Given the description of an element on the screen output the (x, y) to click on. 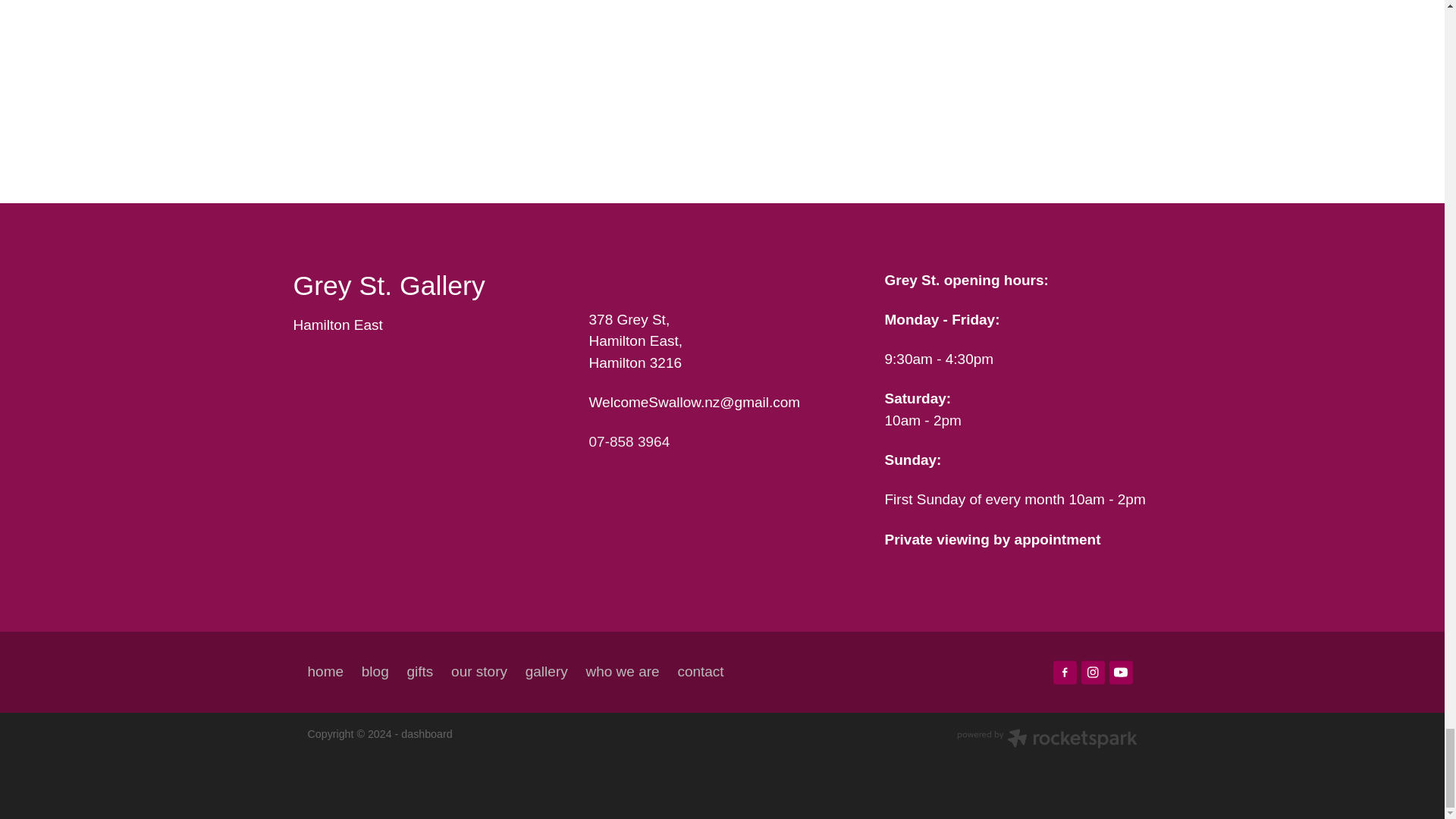
Rocketspark website builder (1046, 740)
who we are (622, 671)
our story (479, 671)
A link to this website's Instagram. (1093, 671)
dashboard (426, 734)
07-858 3964 (628, 441)
A link to this website's Facebook. (1064, 671)
Call via Hangouts (628, 441)
A link to this website's Youtube. (1120, 671)
